Given the description of an element on the screen output the (x, y) to click on. 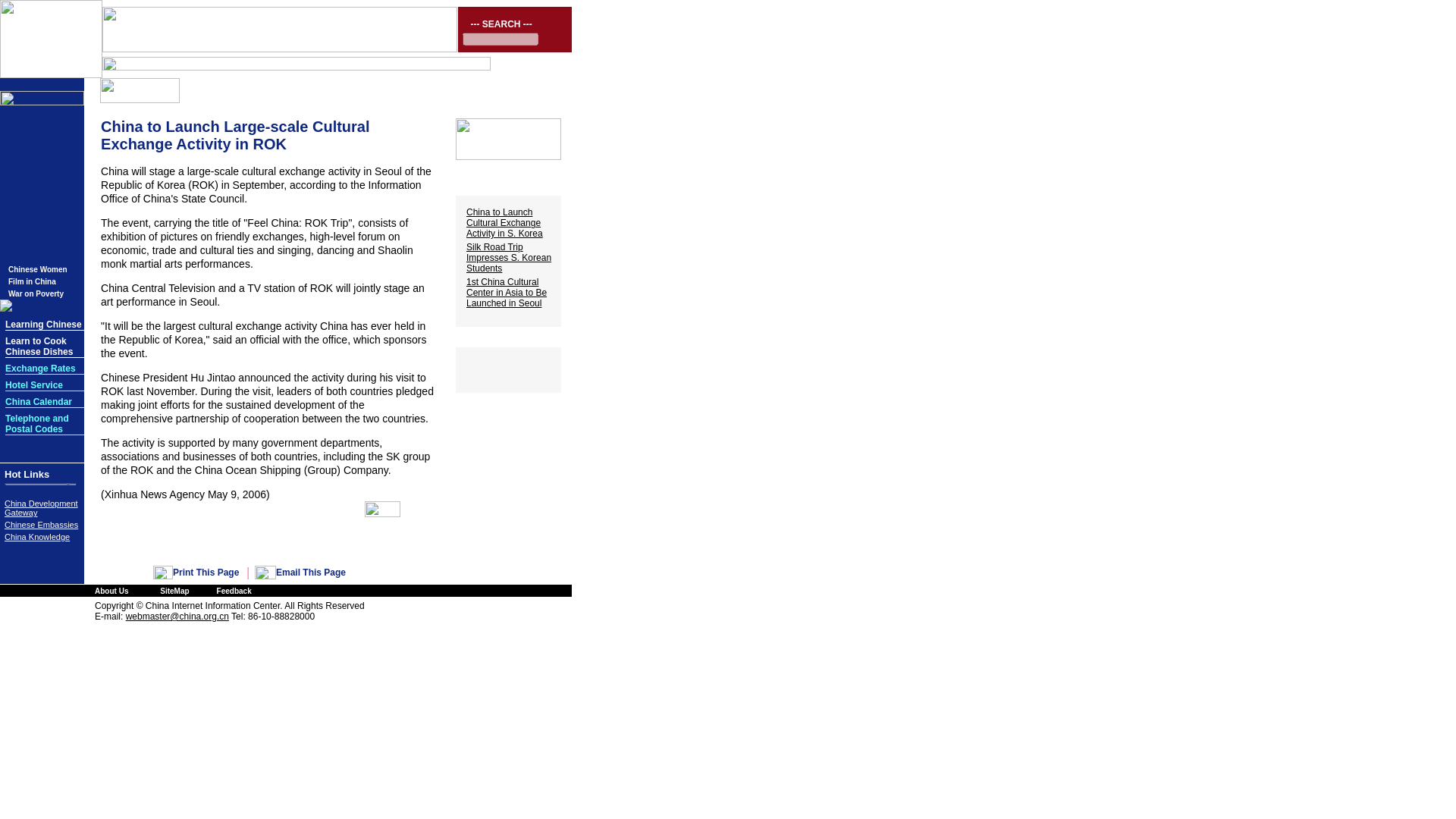
Hotel Service (33, 385)
BUSINESS (27, 148)
PEOPLE (23, 233)
Learn to Cook Chinese Dishes (38, 346)
China to Launch Cultural Exchange Activity in S. Korea (504, 223)
Email This Page (311, 572)
GOVERNMENT (35, 172)
INTERNATIONAL (38, 135)
War on Poverty (36, 293)
CHINA (20, 123)
